Given the description of an element on the screen output the (x, y) to click on. 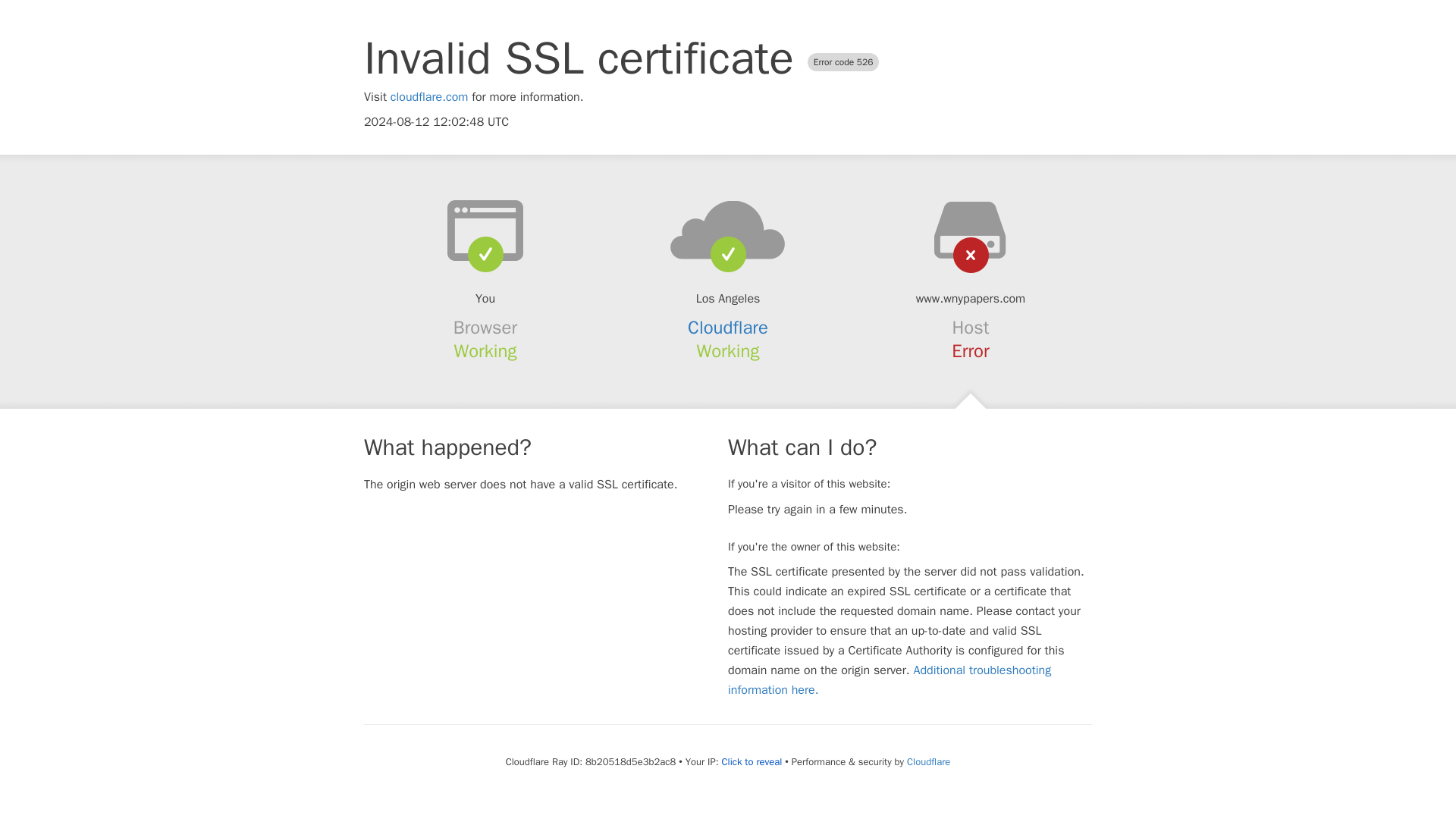
Cloudflare (727, 327)
cloudflare.com (429, 96)
Additional troubleshooting information here. (889, 679)
Cloudflare (928, 761)
Click to reveal (750, 762)
